Given the description of an element on the screen output the (x, y) to click on. 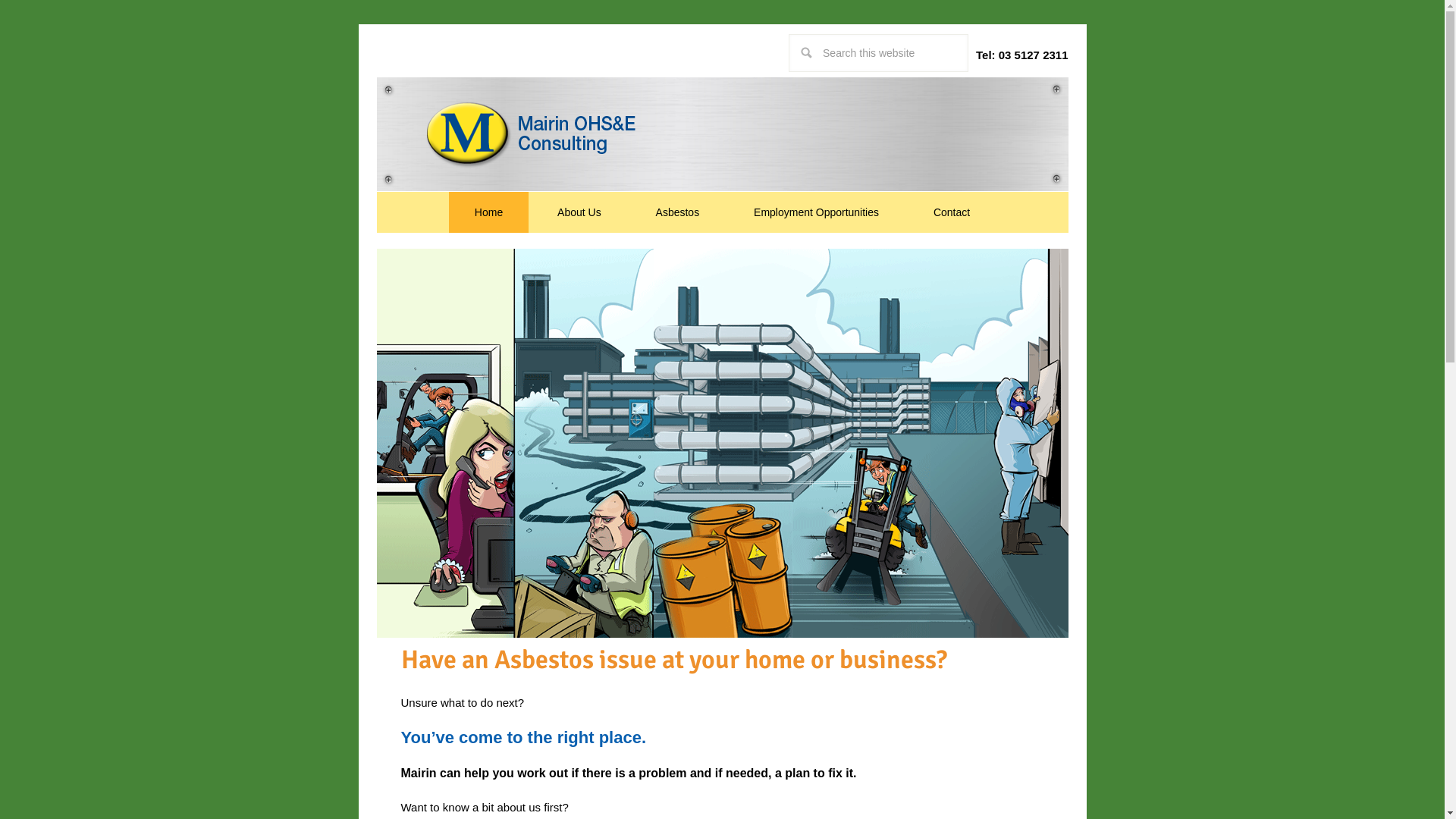
Employment Opportunities Element type: text (816, 211)
Contact Element type: text (951, 211)
Search Element type: text (967, 33)
Asbestos Element type: text (677, 211)
Home Element type: text (488, 211)
About Us Element type: text (579, 211)
